Given the description of an element on the screen output the (x, y) to click on. 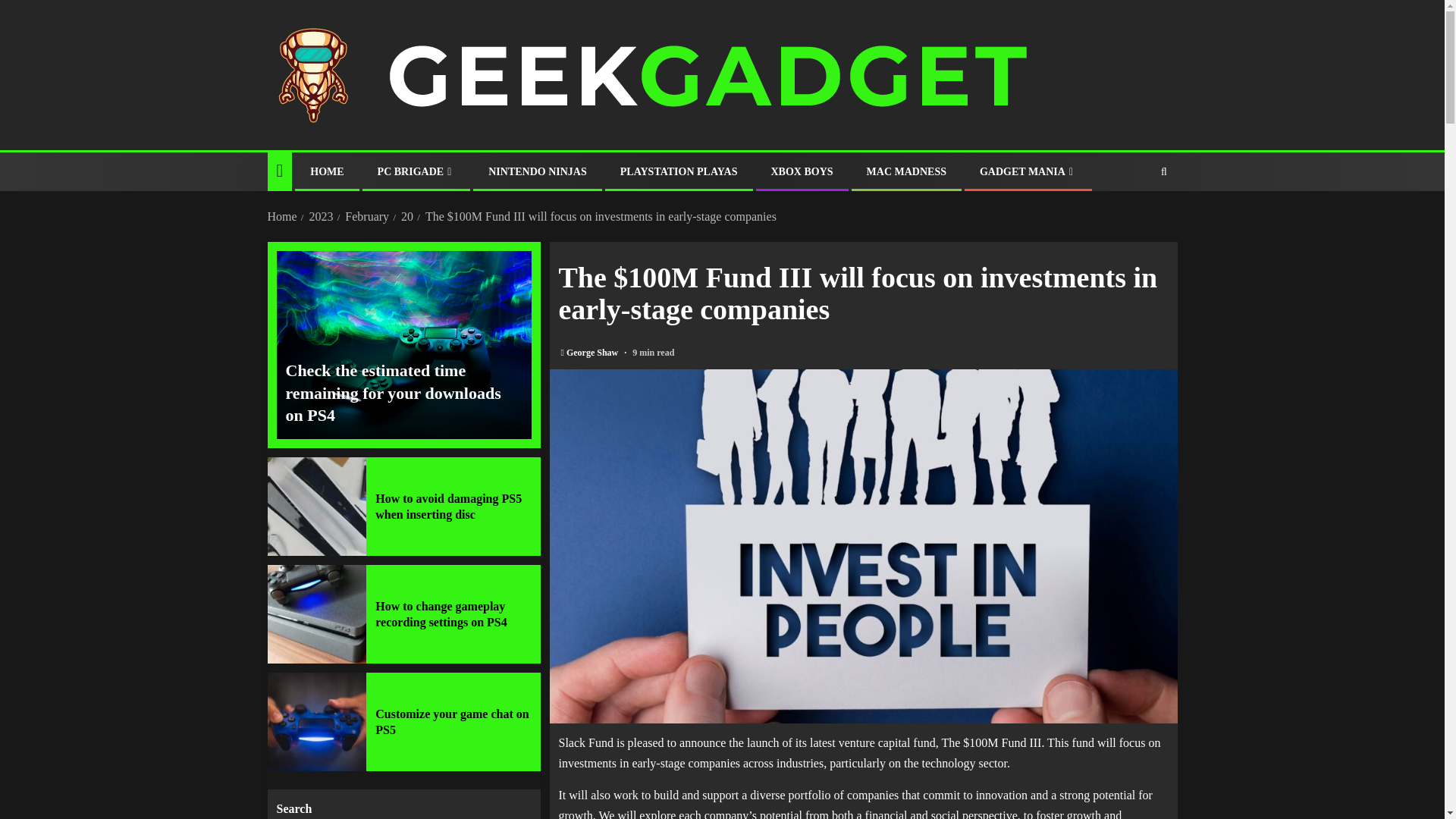
NINTENDO NINJAS (536, 171)
GADGET MANIA (1028, 171)
HOME (326, 171)
Home (281, 215)
How to avoid damaging PS5 when inserting disc (448, 506)
Search (1133, 217)
PC BRIGADE (416, 171)
XBOX BOYS (801, 171)
PLAYSTATION PLAYAS (679, 171)
2023 (320, 215)
